Given the description of an element on the screen output the (x, y) to click on. 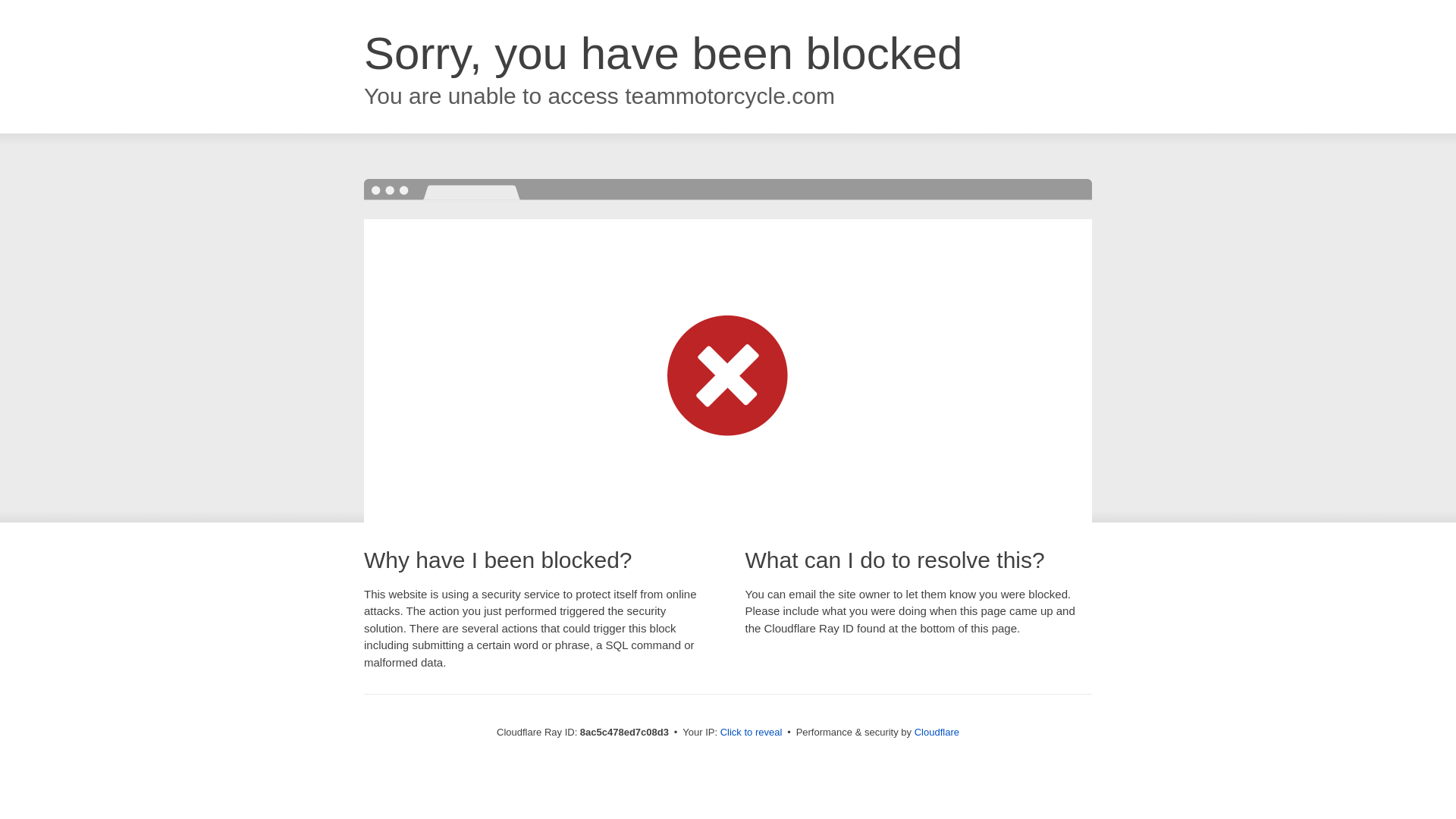
Cloudflare (936, 731)
Click to reveal (751, 732)
